Given the description of an element on the screen output the (x, y) to click on. 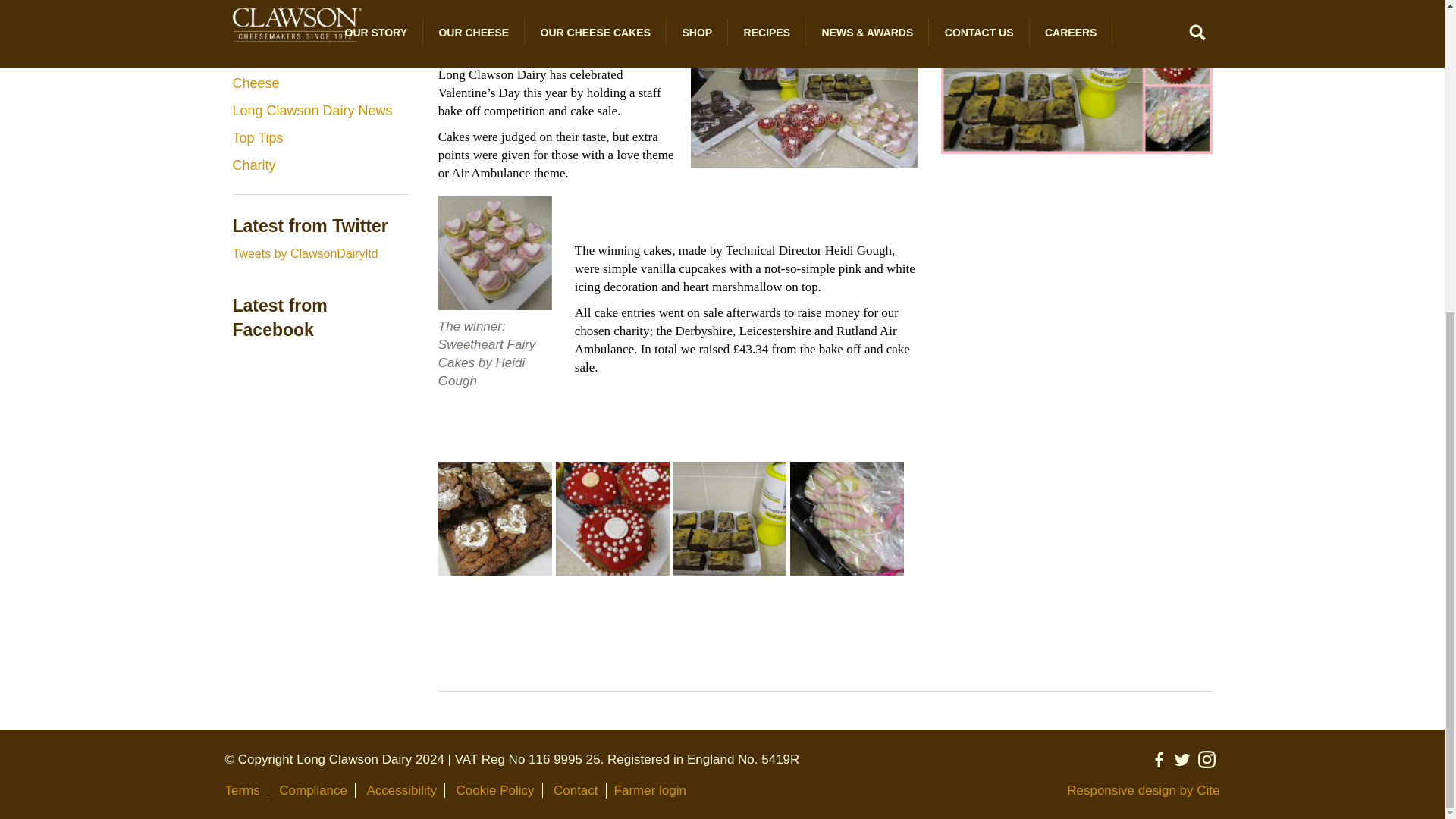
valentine's bake sale (804, 102)
valentine's cupcakes (494, 253)
chocolate brownies with heart icing (494, 518)
air ambulance themed cake (729, 518)
Tweet (454, 3)
valentine's heart biscuits (847, 518)
vanilla and chocolate cupcakes (612, 518)
